Given the description of an element on the screen output the (x, y) to click on. 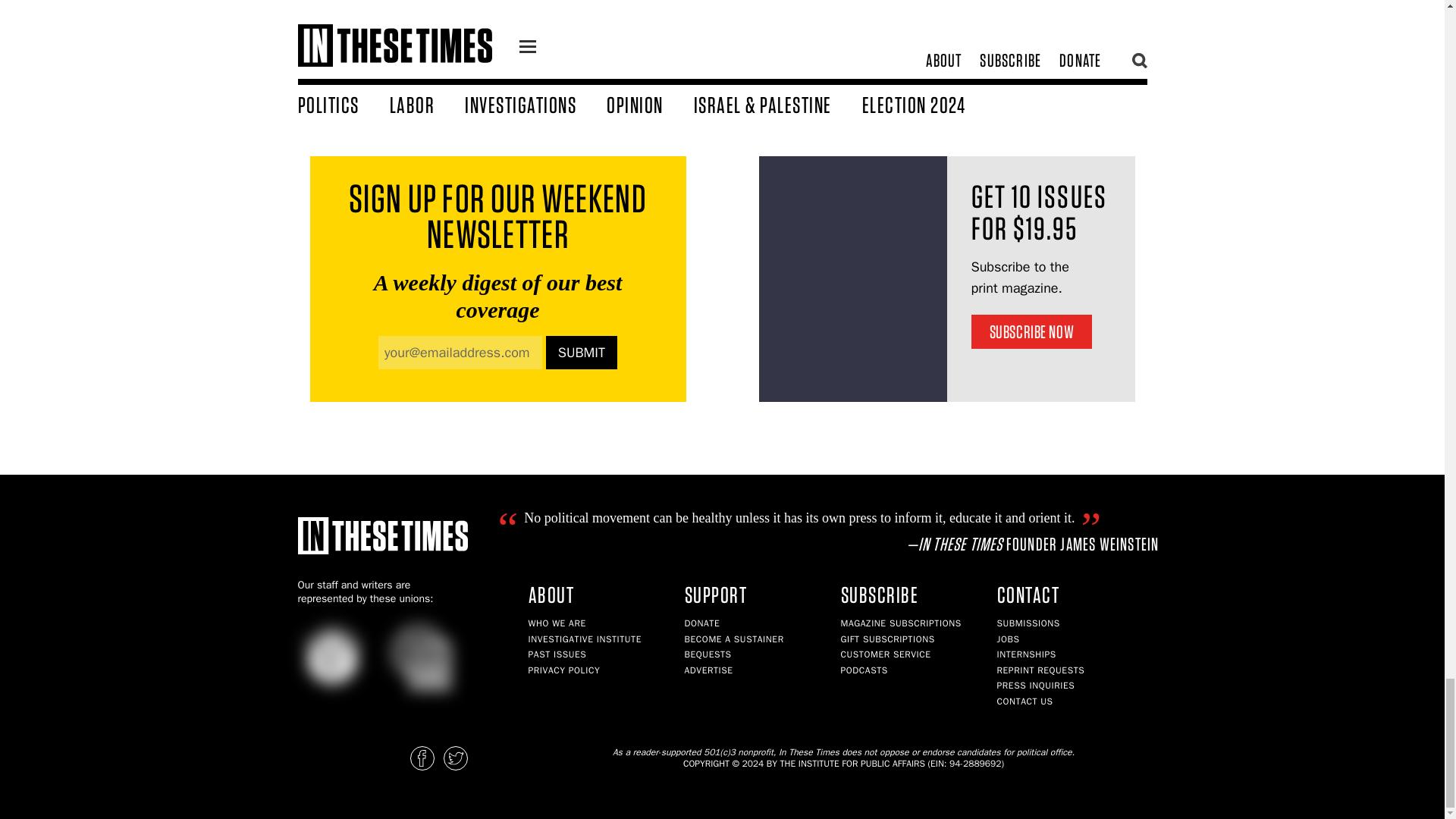
Submit (581, 352)
Submit (581, 352)
